Given the description of an element on the screen output the (x, y) to click on. 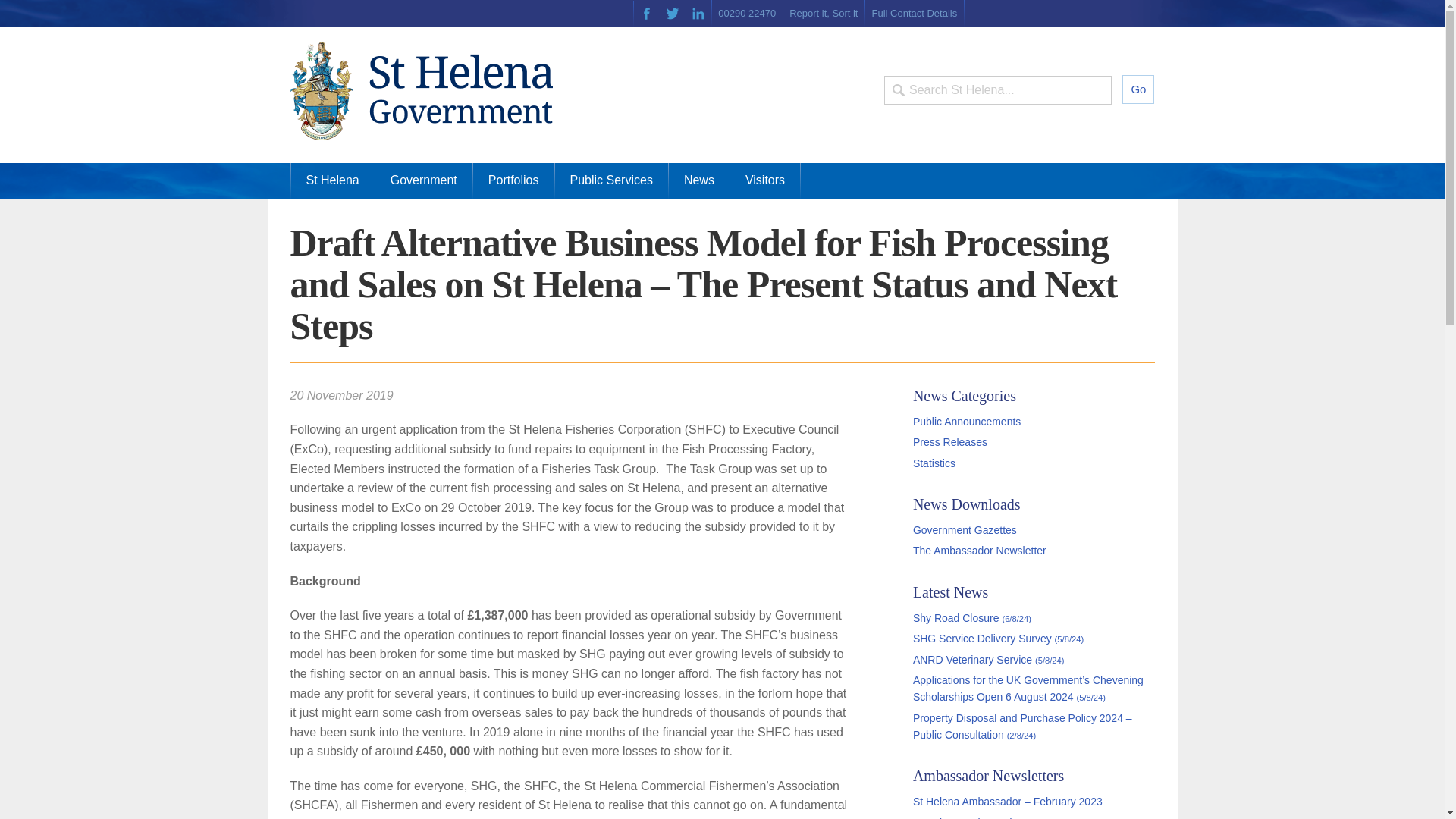
Permanent Link to Shy Road Closure (971, 617)
Permanent Link to ANRD Veterinary Service (988, 659)
Go (1138, 89)
Permanent Link to SHG Service Delivery Survey (997, 638)
Go (1138, 89)
